Given the description of an element on the screen output the (x, y) to click on. 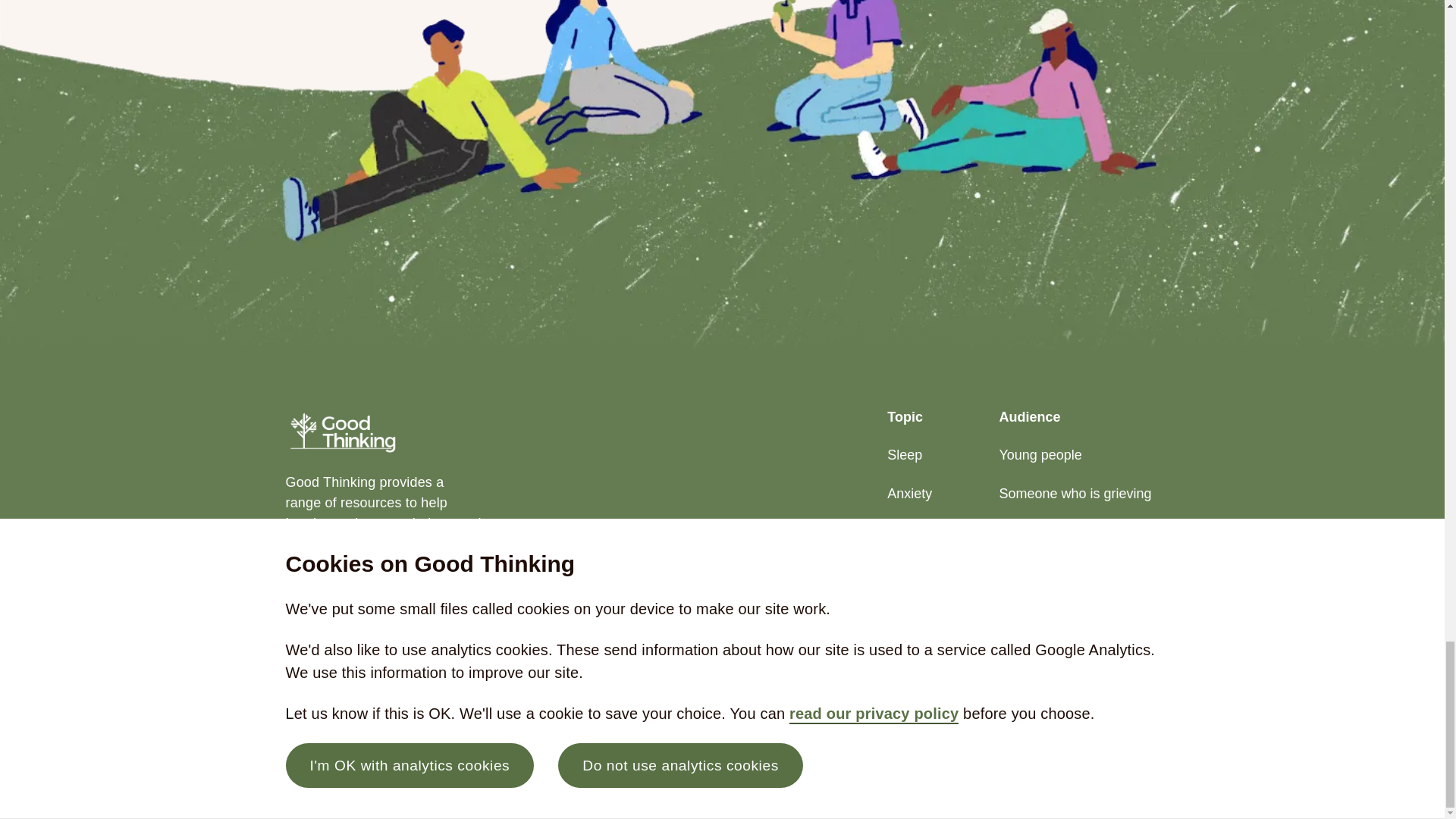
Young people (1078, 455)
Low mood (918, 532)
Students (1078, 532)
Sleep (918, 455)
Stress (918, 571)
Anxiety (918, 494)
Someone who is grieving (1078, 494)
